Given the description of an element on the screen output the (x, y) to click on. 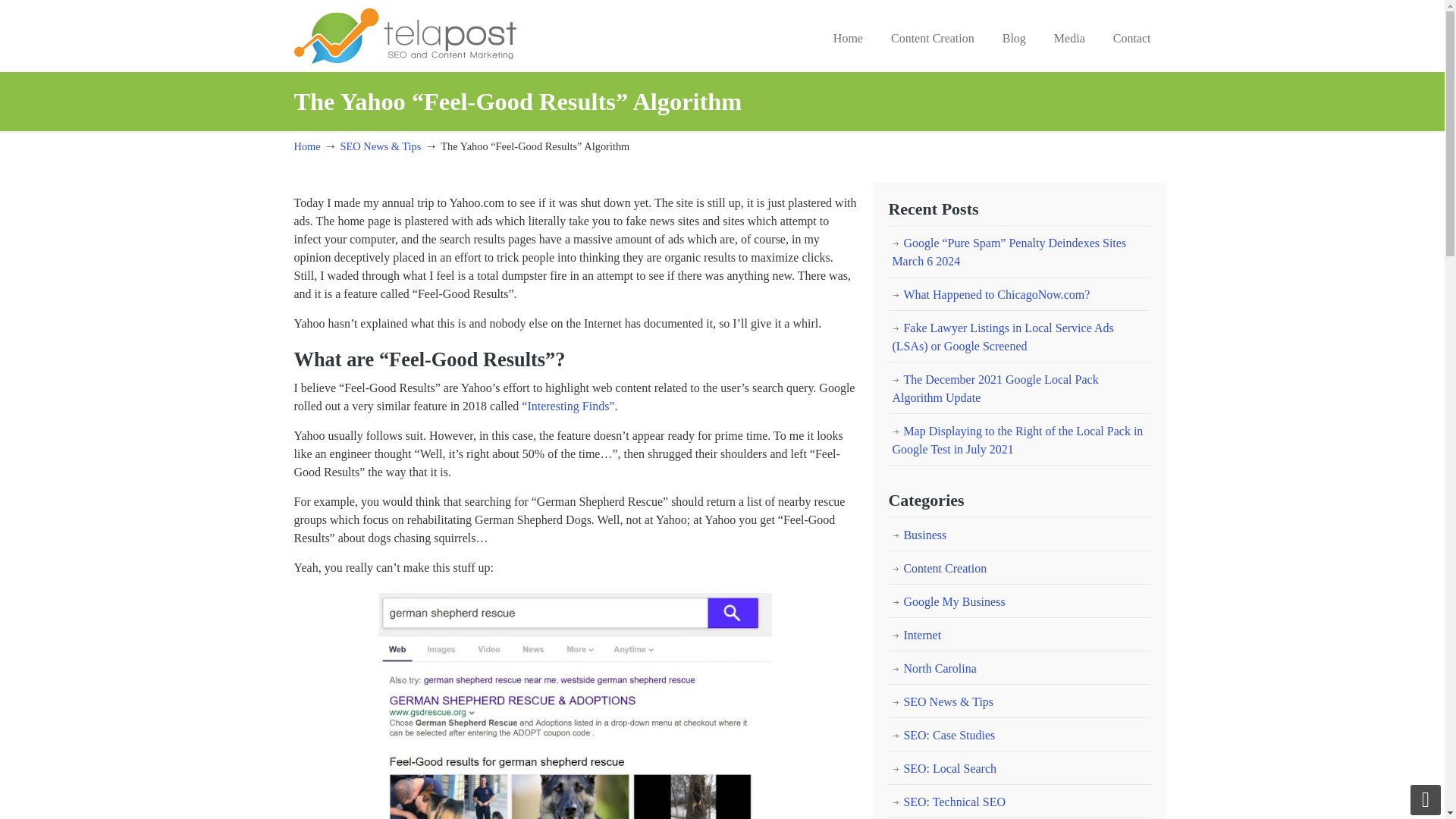
Home (307, 146)
Content Creation (1019, 568)
The December 2021 Google Local Pack Algorithm Update (1019, 388)
Google My Business (1019, 602)
Business (1019, 535)
What Happened to ChicagoNow.com? (1019, 295)
SEO: Local Search (1019, 768)
North Carolina (1019, 668)
Internet (1019, 635)
SEO: Case Studies (1019, 735)
Media (1069, 38)
Contact (1131, 38)
telapost (405, 33)
telapost (405, 33)
